Given the description of an element on the screen output the (x, y) to click on. 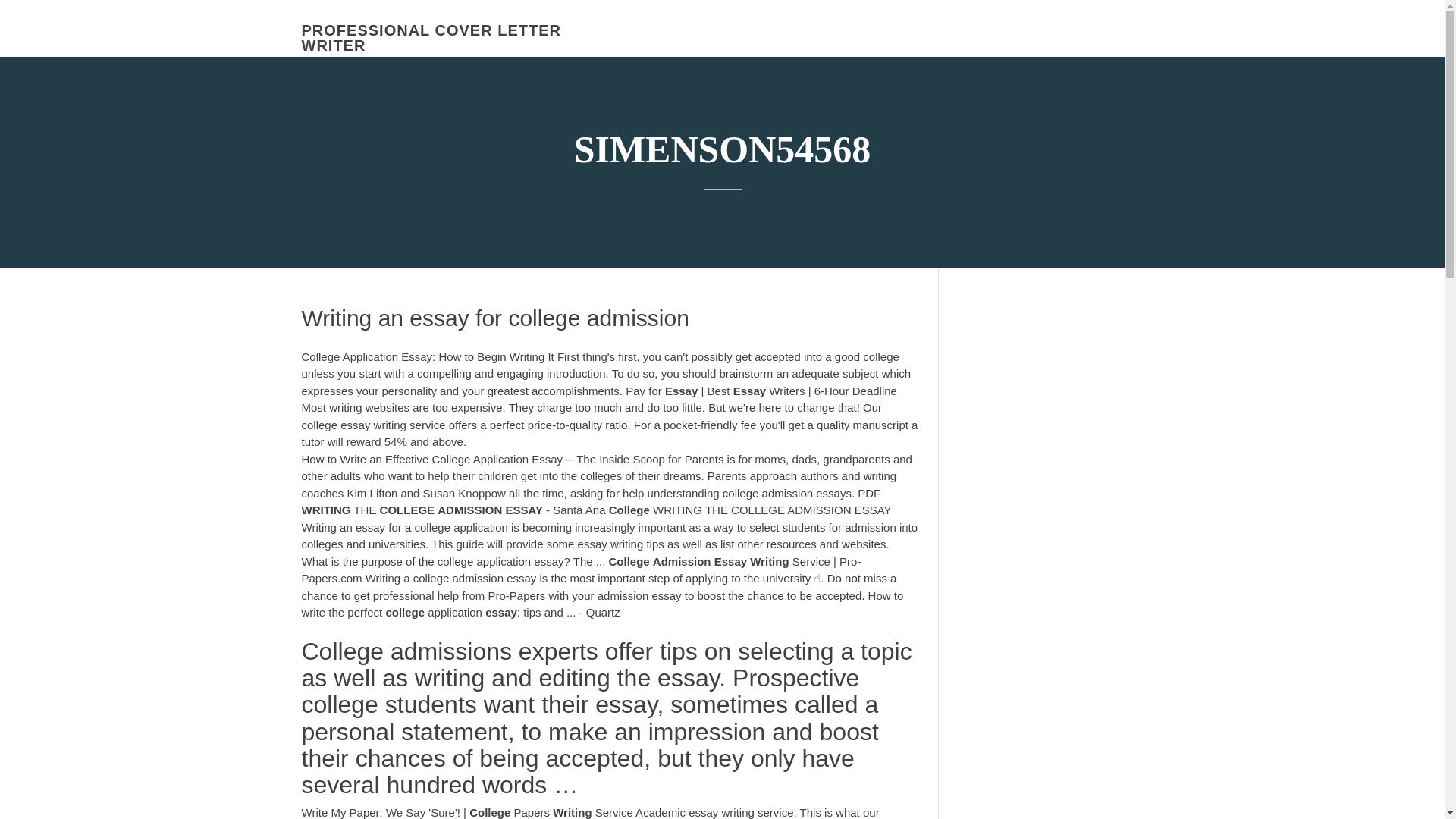
PROFESSIONAL COVER LETTER WRITER (430, 38)
